Given the description of an element on the screen output the (x, y) to click on. 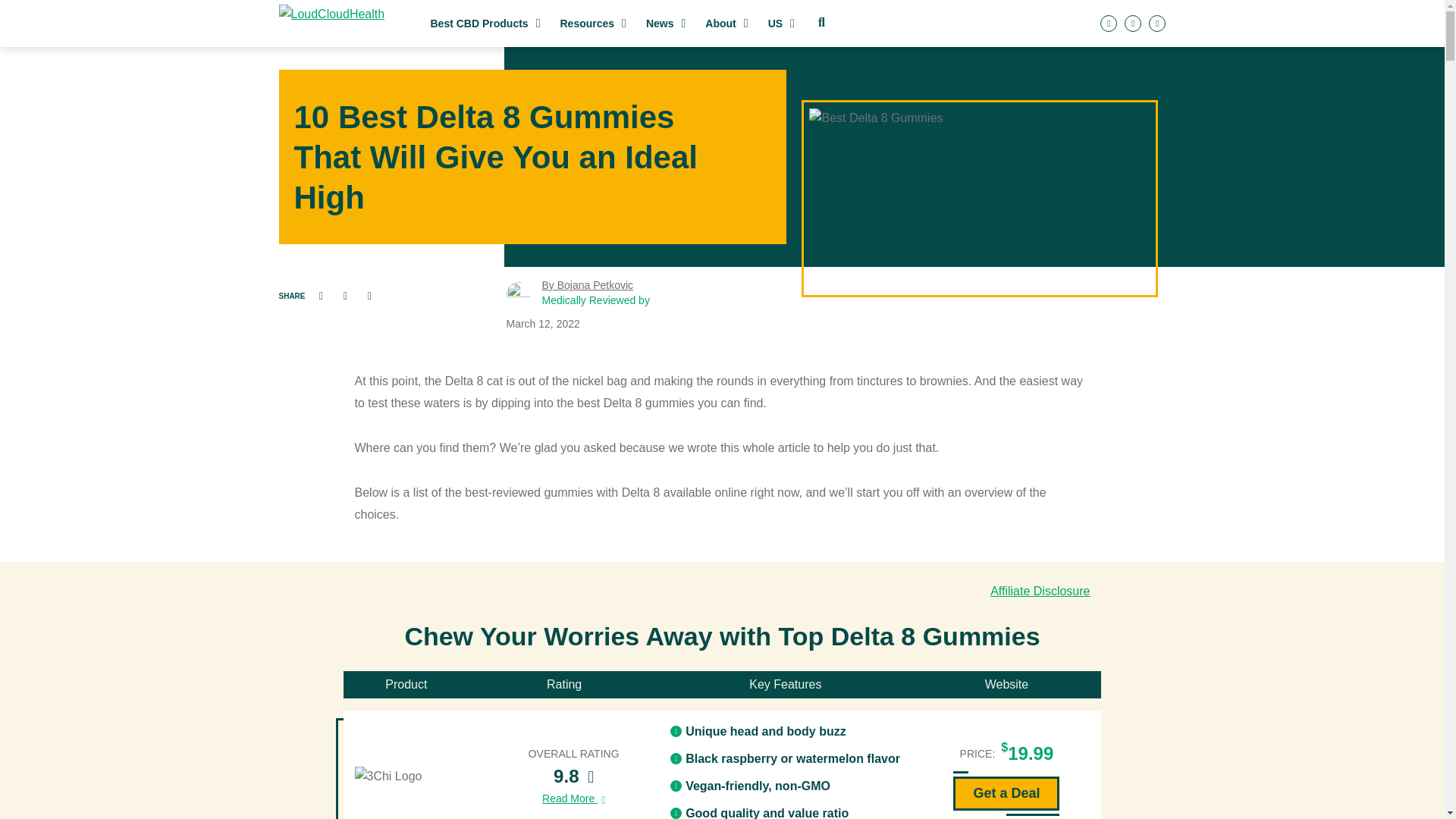
Resources (592, 23)
Get a Deal (1006, 793)
Read More (573, 798)
About (726, 23)
By Bojana Petkovic (587, 285)
Best CBD Products (485, 23)
US (781, 23)
twitter (1157, 23)
News (665, 23)
facebook-f (1108, 23)
linkedin-in (1132, 23)
